Given the description of an element on the screen output the (x, y) to click on. 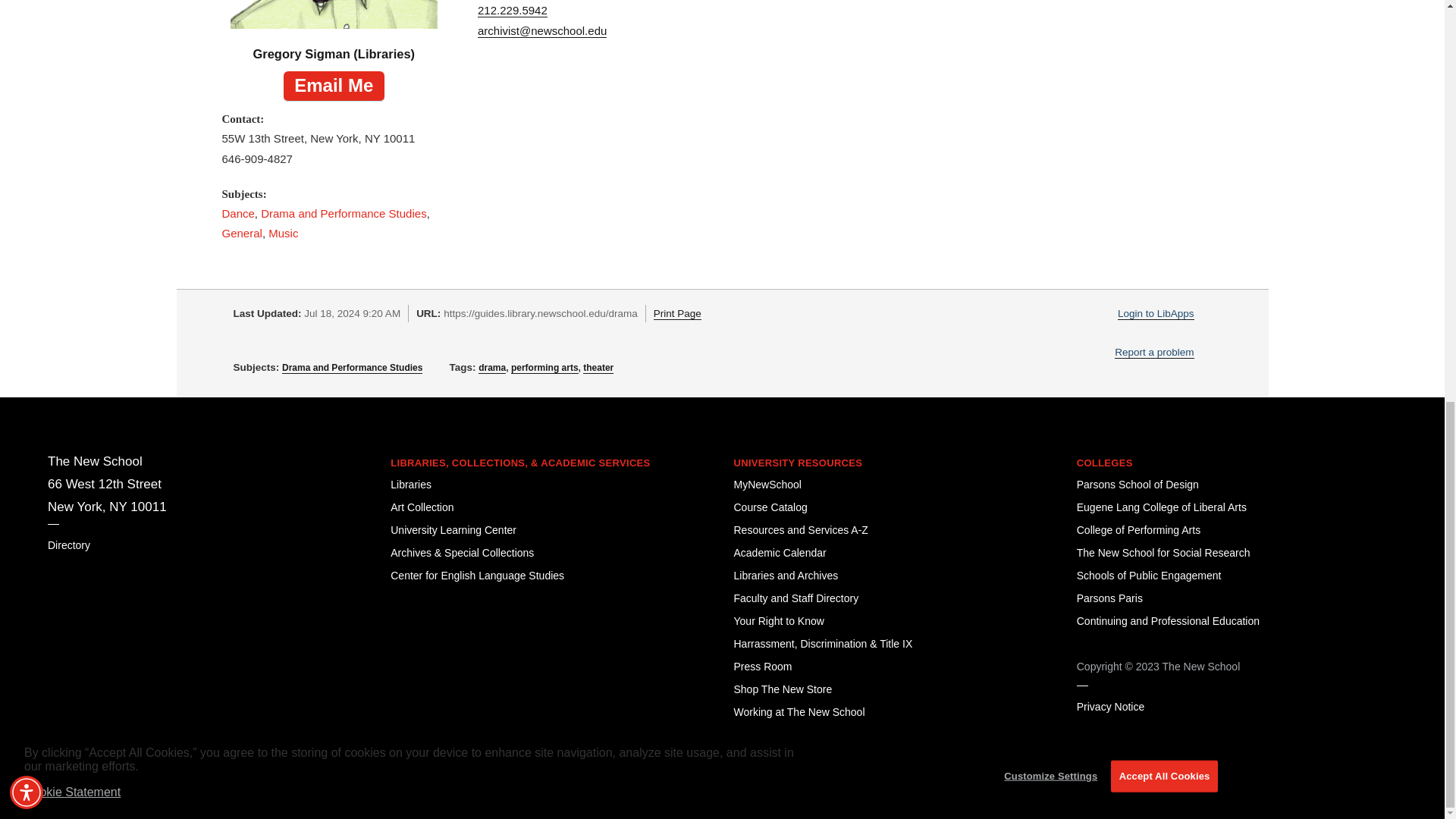
Print Page (677, 313)
General (241, 232)
Dance (237, 213)
Accessibility Menu (26, 9)
Music (282, 232)
Email Me (333, 86)
Drama and Performance Studies (343, 213)
212.229.5942 (512, 10)
